Given the description of an element on the screen output the (x, y) to click on. 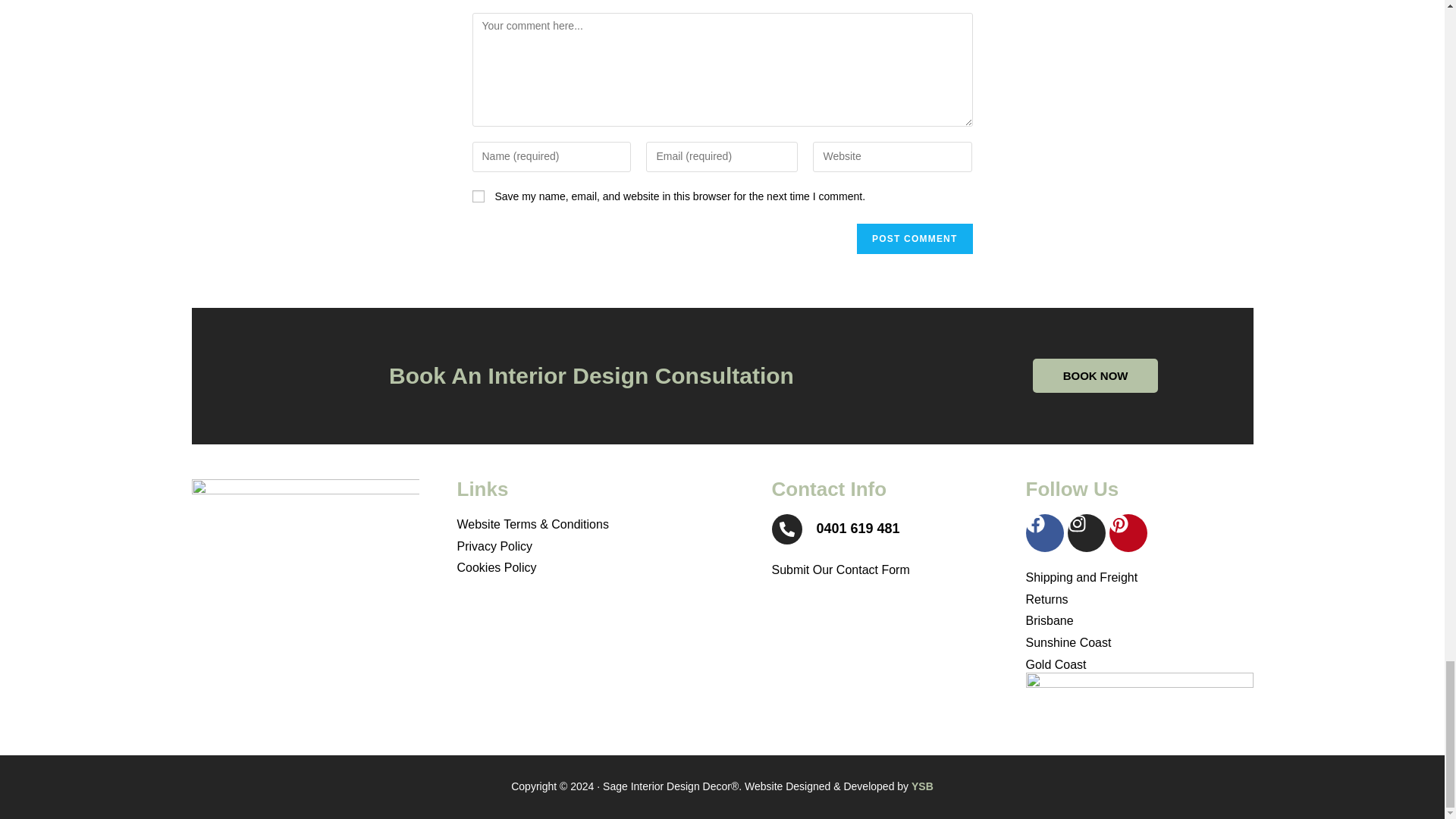
Post Comment (914, 238)
yes (477, 196)
